Given the description of an element on the screen output the (x, y) to click on. 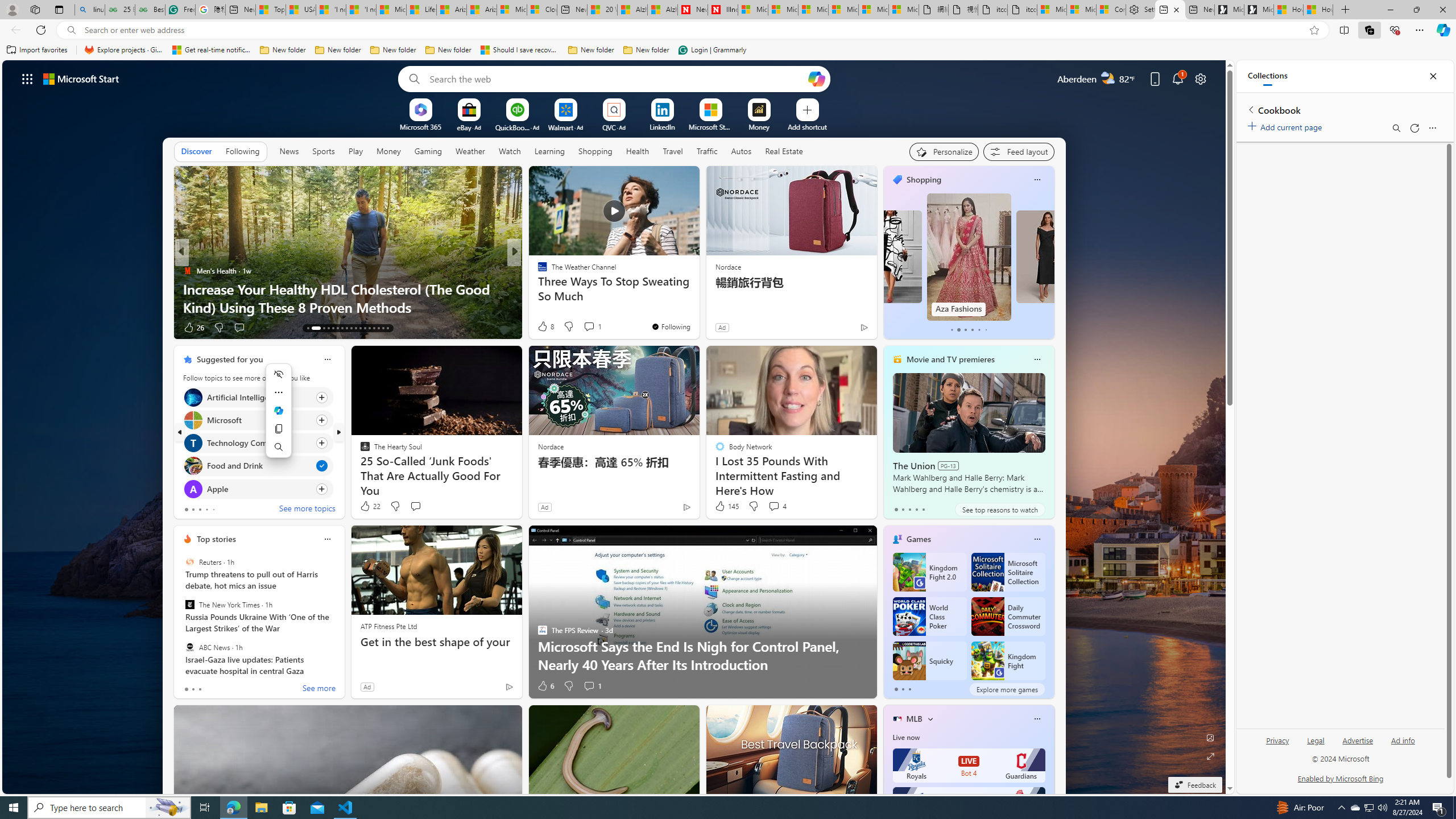
How to Use a TV as a Computer Monitor (1318, 9)
Reuters (189, 561)
View comments 7 Comment (592, 327)
View comments 4 Comment (773, 505)
Microsoft start (81, 78)
See top reasons to watch (999, 509)
AutomationID: tab-27 (378, 328)
Search icon (70, 29)
